Given the description of an element on the screen output the (x, y) to click on. 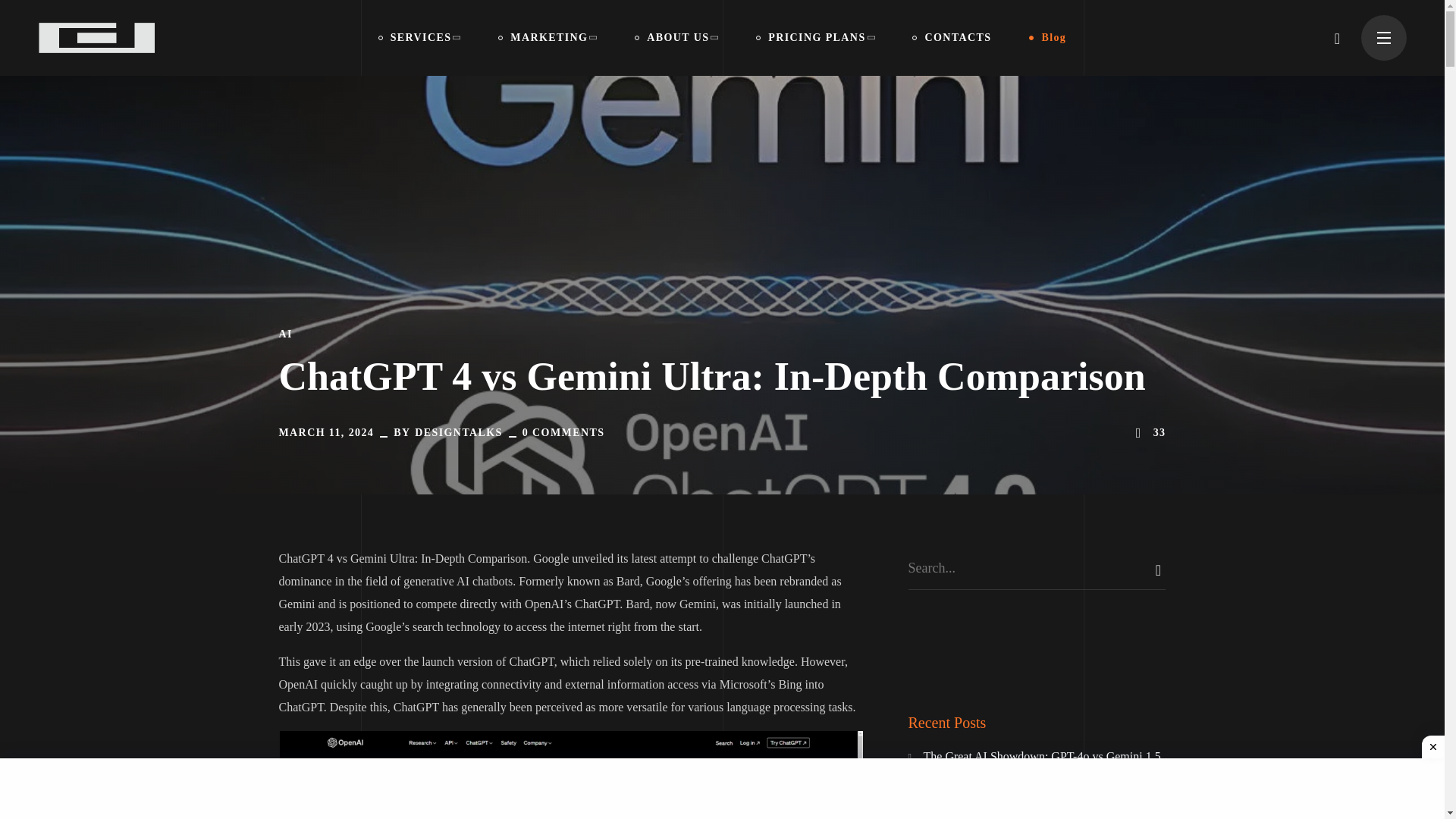
PRICING PLANS (814, 38)
Blog (1047, 38)
ABOUT US (675, 38)
CONTACTS (951, 38)
Like (1149, 432)
MARKETING (547, 38)
SERVICES (419, 38)
Leave a reply (563, 432)
